Given the description of an element on the screen output the (x, y) to click on. 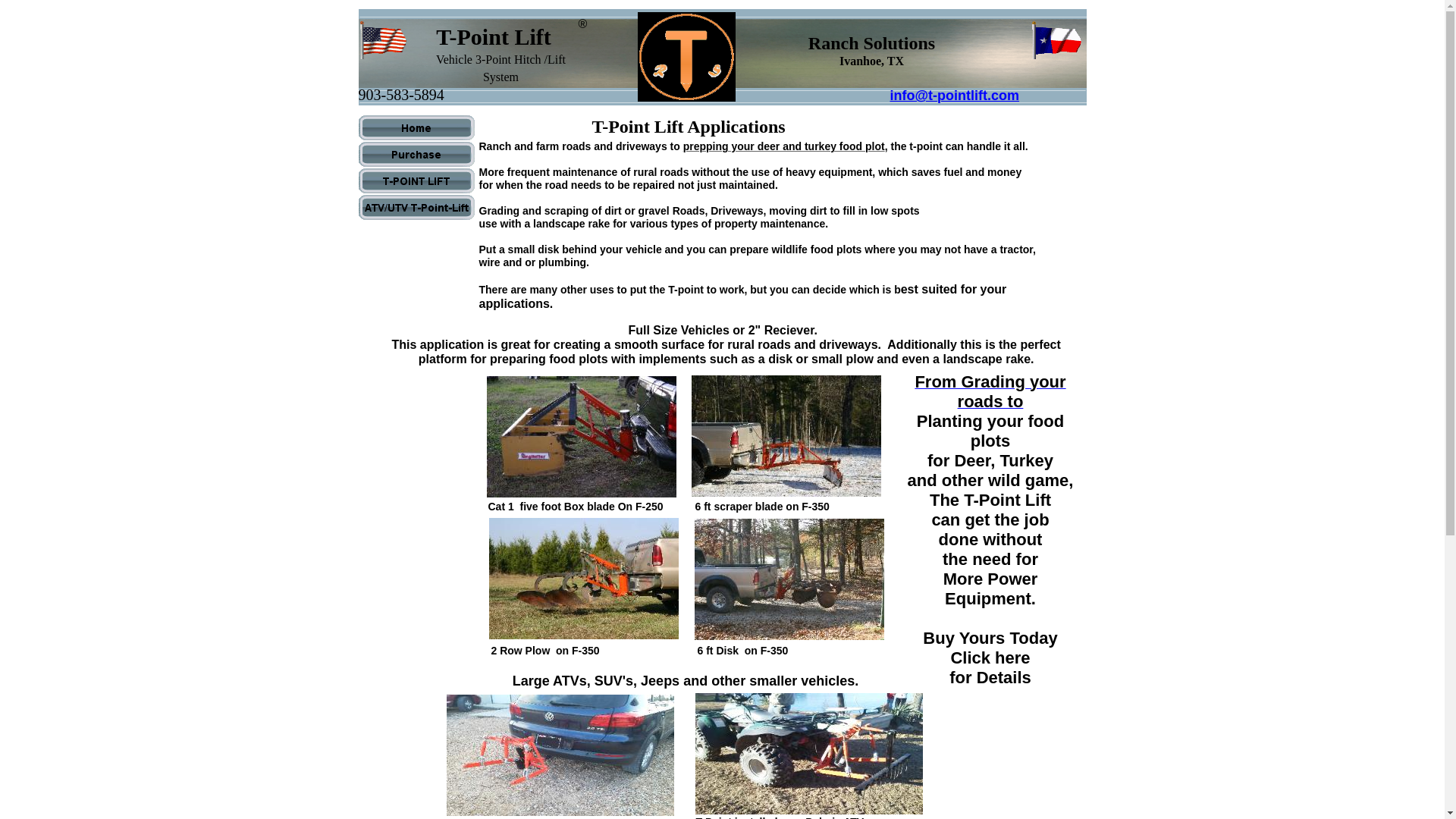
From Grading (971, 382)
roads to (990, 402)
your (1047, 382)
